Given the description of an element on the screen output the (x, y) to click on. 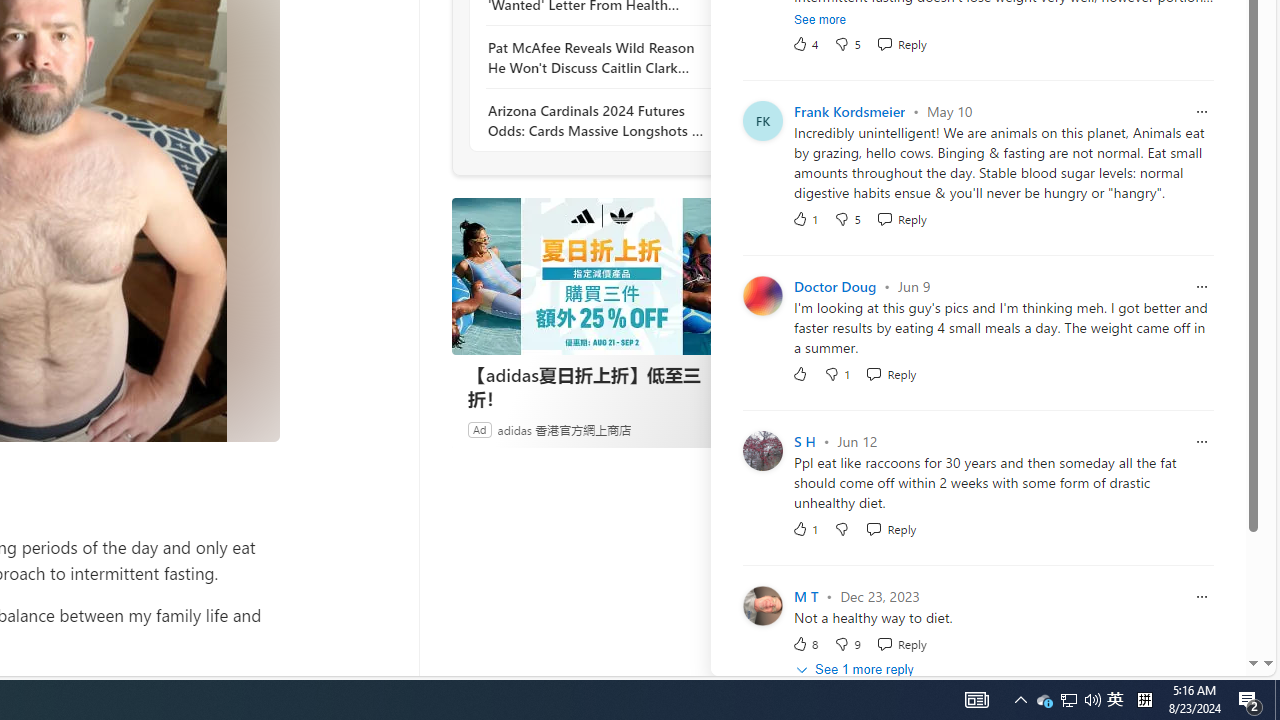
M T (806, 596)
8 Like (804, 642)
4 Like (804, 43)
1 Like (804, 528)
Reply Reply Comment (900, 642)
